Given the description of an element on the screen output the (x, y) to click on. 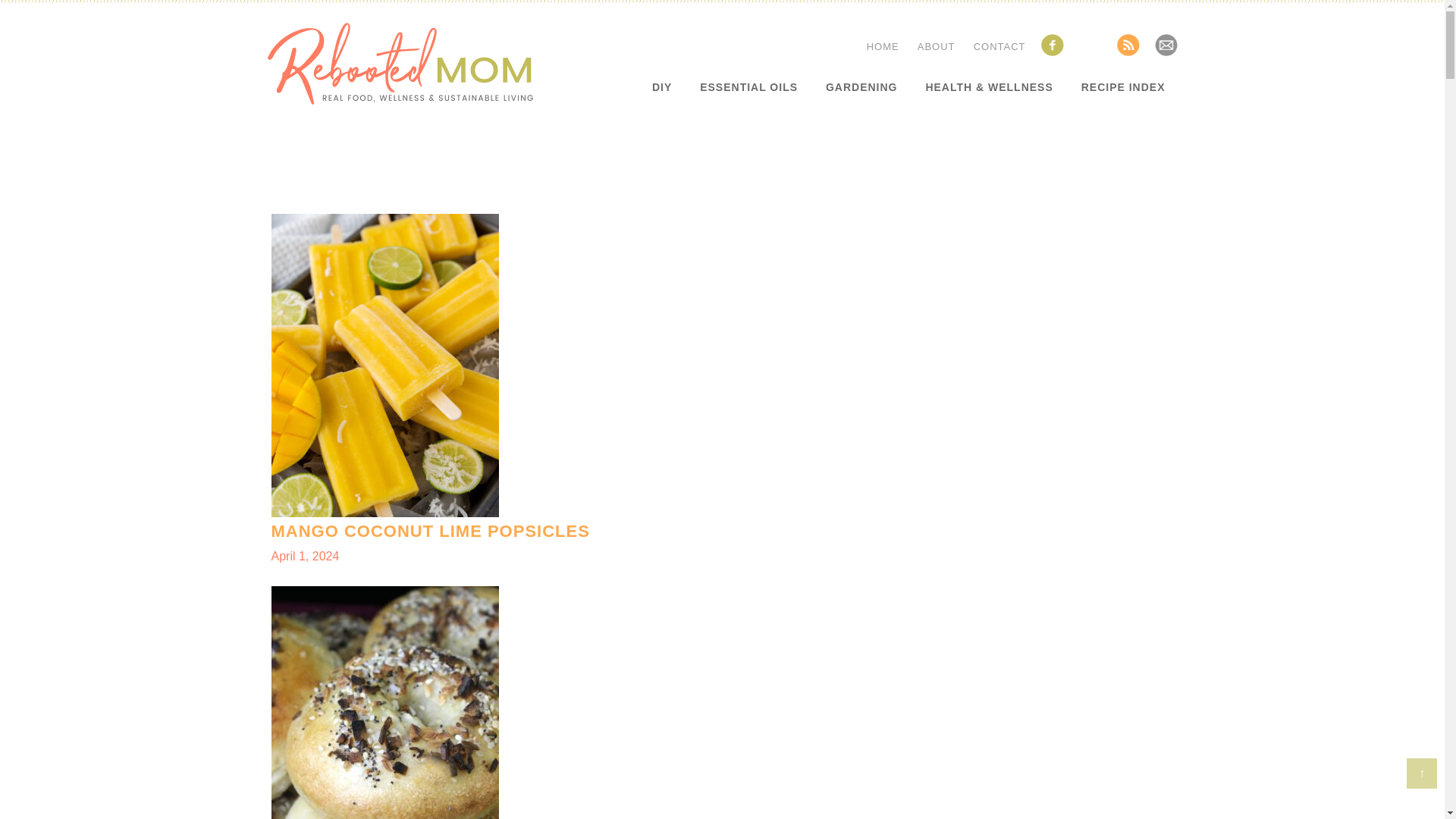
CONTACT (1122, 87)
REBOOTED MOM (999, 46)
GARDENING (399, 63)
ESSENTIAL OILS (861, 87)
HOME (748, 87)
DIY (883, 46)
ABOUT (662, 87)
